Given the description of an element on the screen output the (x, y) to click on. 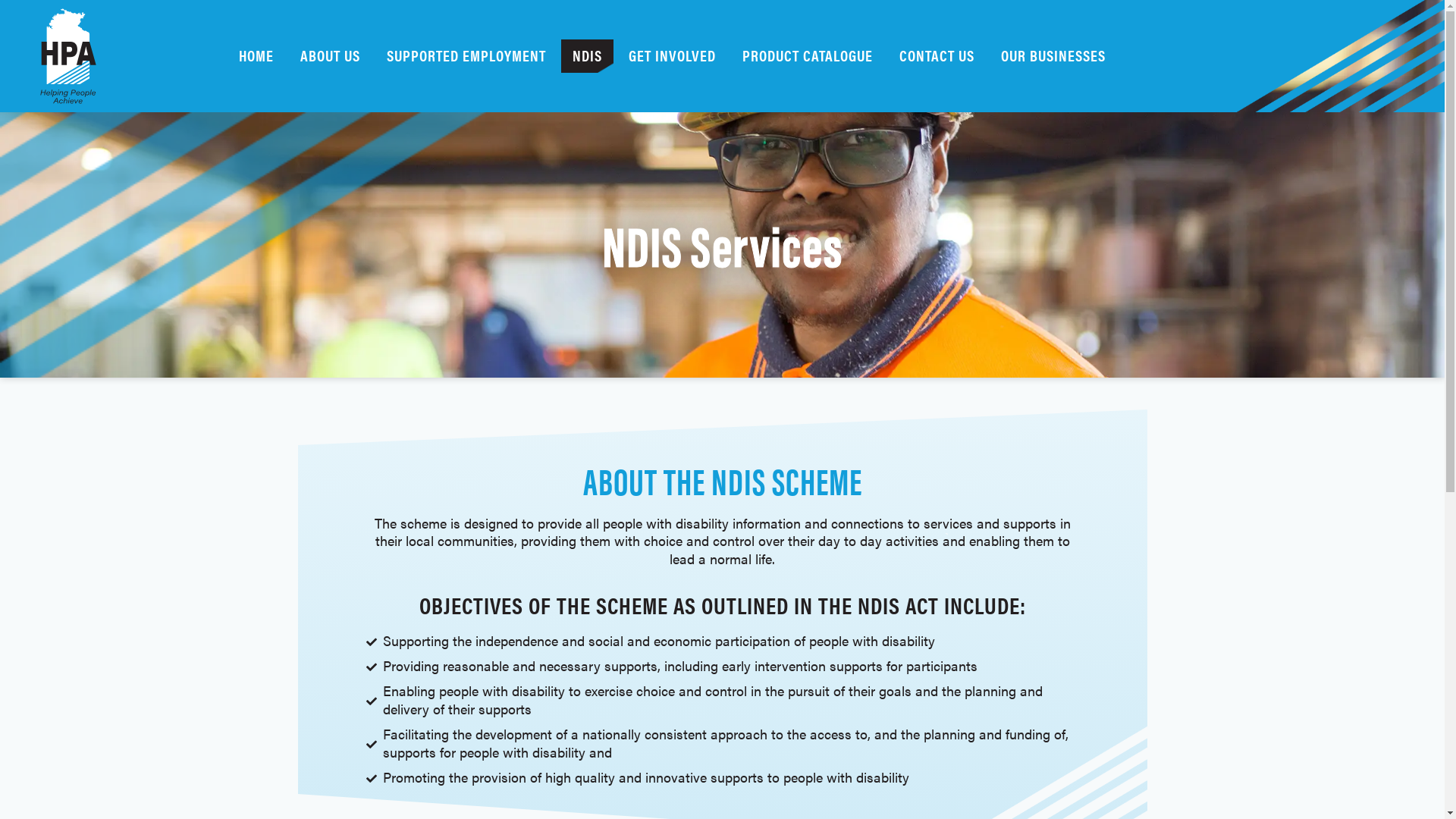
PRODUCT CATALOGUE Element type: text (807, 55)
OUR BUSINESSES Element type: text (1053, 55)
ABOUT US Element type: text (329, 55)
NDIS Element type: text (587, 55)
GET INVOLVED Element type: text (672, 55)
SUPPORTED EMPLOYMENT Element type: text (466, 55)
HOME Element type: text (256, 55)
CONTACT US Element type: text (936, 55)
